Given the description of an element on the screen output the (x, y) to click on. 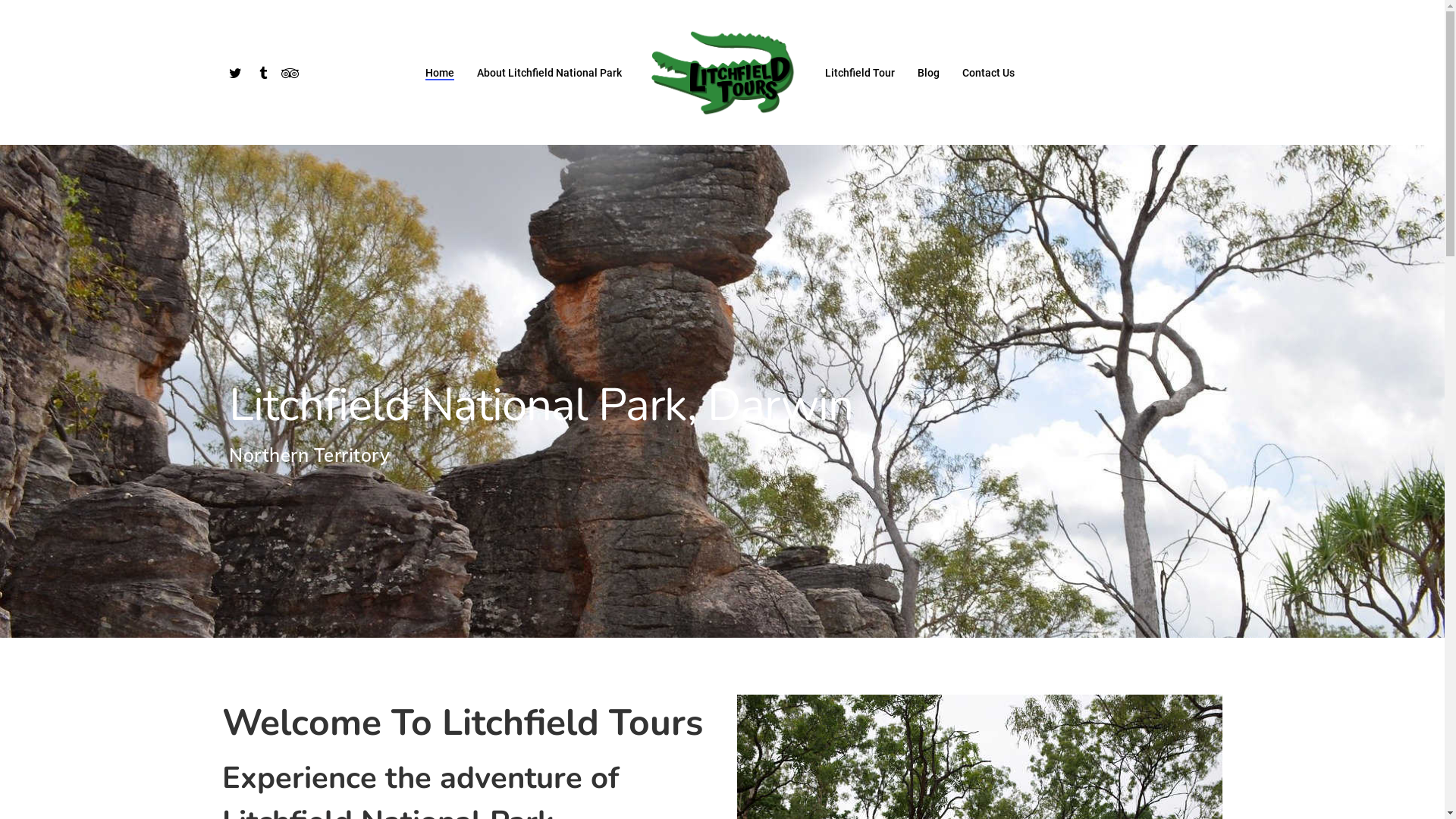
About Litchfield National Park Element type: text (571, 661)
Blog Element type: text (776, 661)
Sitemap Element type: text (980, 661)
Partners Element type: text (835, 661)
Home Element type: text (458, 661)
About Litchfield National Park Element type: text (548, 71)
SEO Element type: text (638, 757)
Searchnity Element type: text (787, 757)
Contact Us Element type: text (988, 71)
Litchfield Tour Element type: text (705, 661)
Home Element type: text (439, 71)
Litchfield Tour Element type: text (859, 71)
Australian Tourism Export Council (ATEC) Element type: text (773, 703)
Blog Element type: text (928, 71)
Contact Us Element type: text (907, 661)
